Given the description of an element on the screen output the (x, y) to click on. 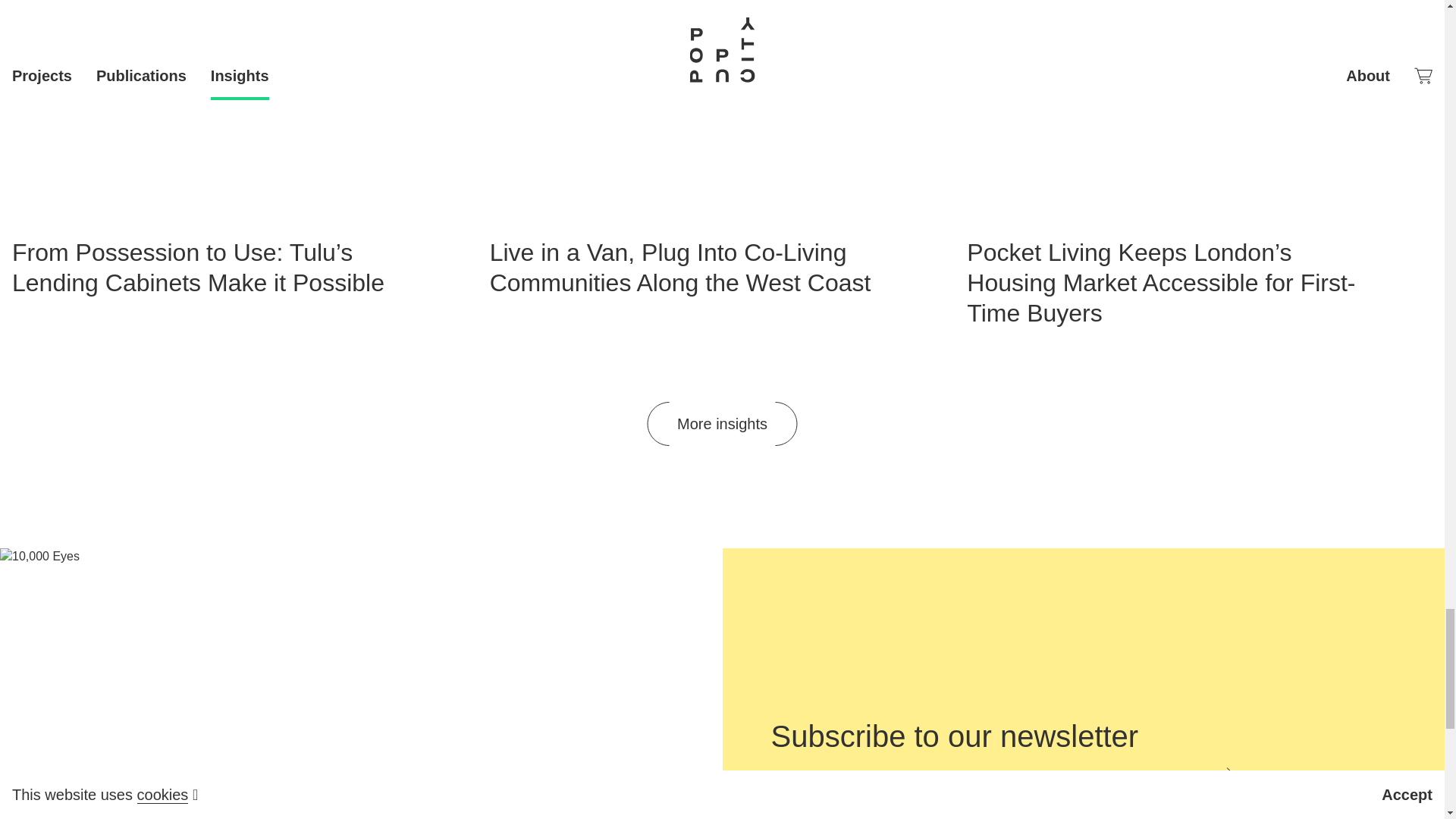
More insights (722, 423)
More insights (722, 423)
